Given the description of an element on the screen output the (x, y) to click on. 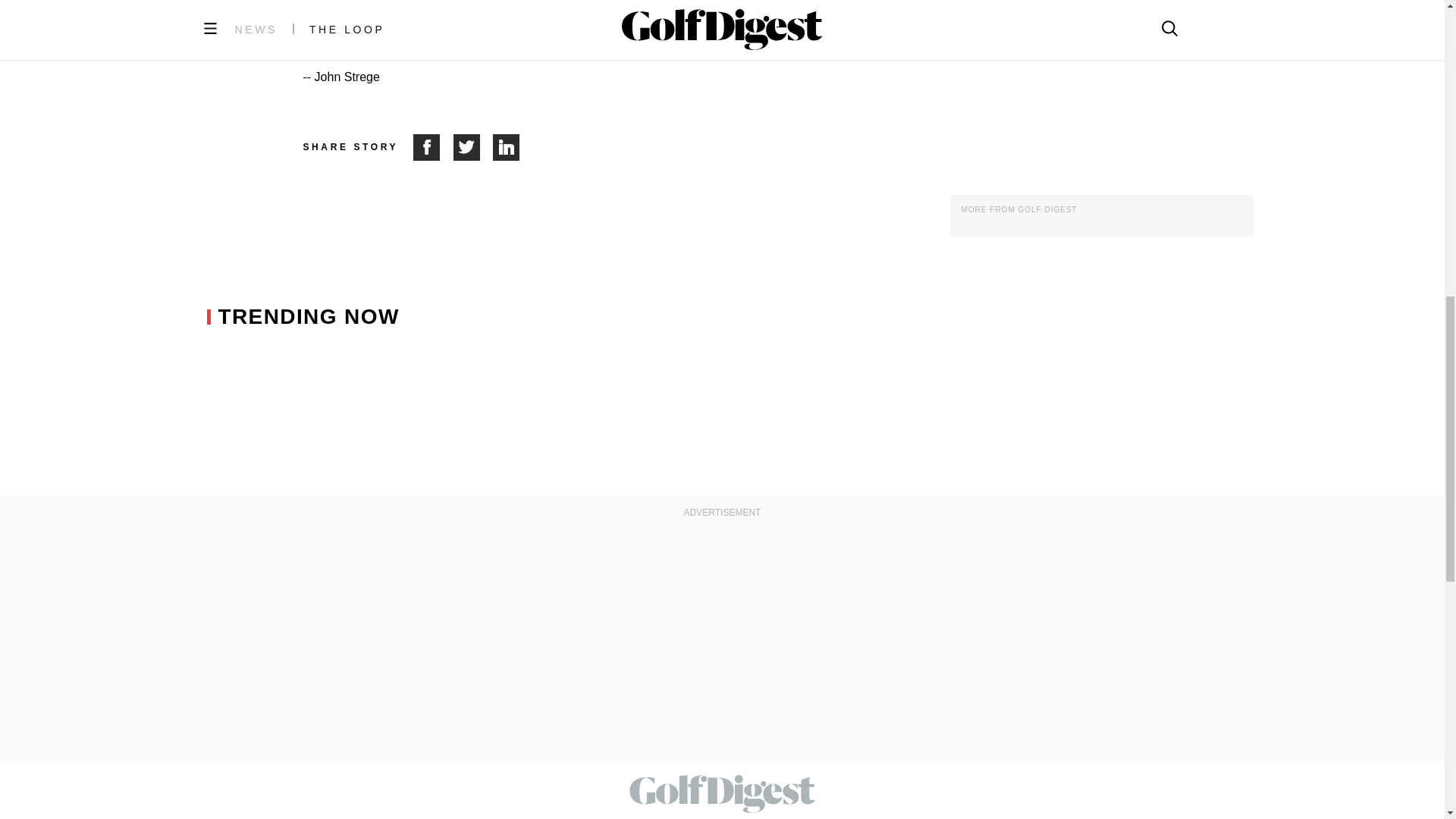
Share on LinkedIn (506, 147)
Share on Twitter (472, 147)
Share on Facebook (432, 147)
